Given the description of an element on the screen output the (x, y) to click on. 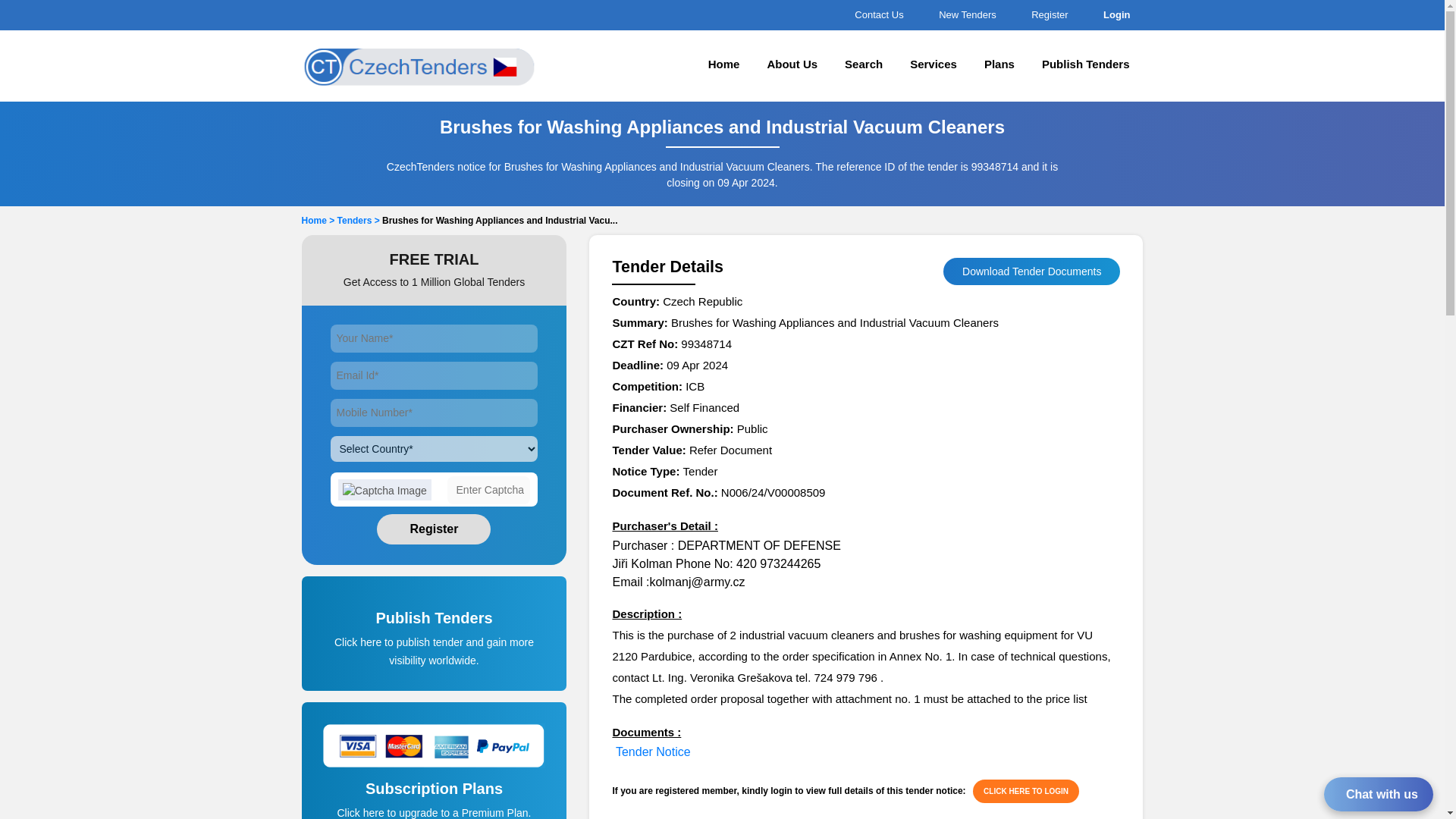
Register (1047, 14)
Plans (999, 65)
Services (933, 65)
Download Tender Documents (1031, 271)
Register (433, 529)
Tender Notice (652, 751)
Search (863, 65)
Login (1114, 14)
Publish Tenders (434, 628)
New Tenders (964, 14)
Home (724, 65)
Publish Tenders (1084, 65)
Subscription Plans (434, 799)
CLICK HERE TO LOGIN (1025, 791)
